Given the description of an element on the screen output the (x, y) to click on. 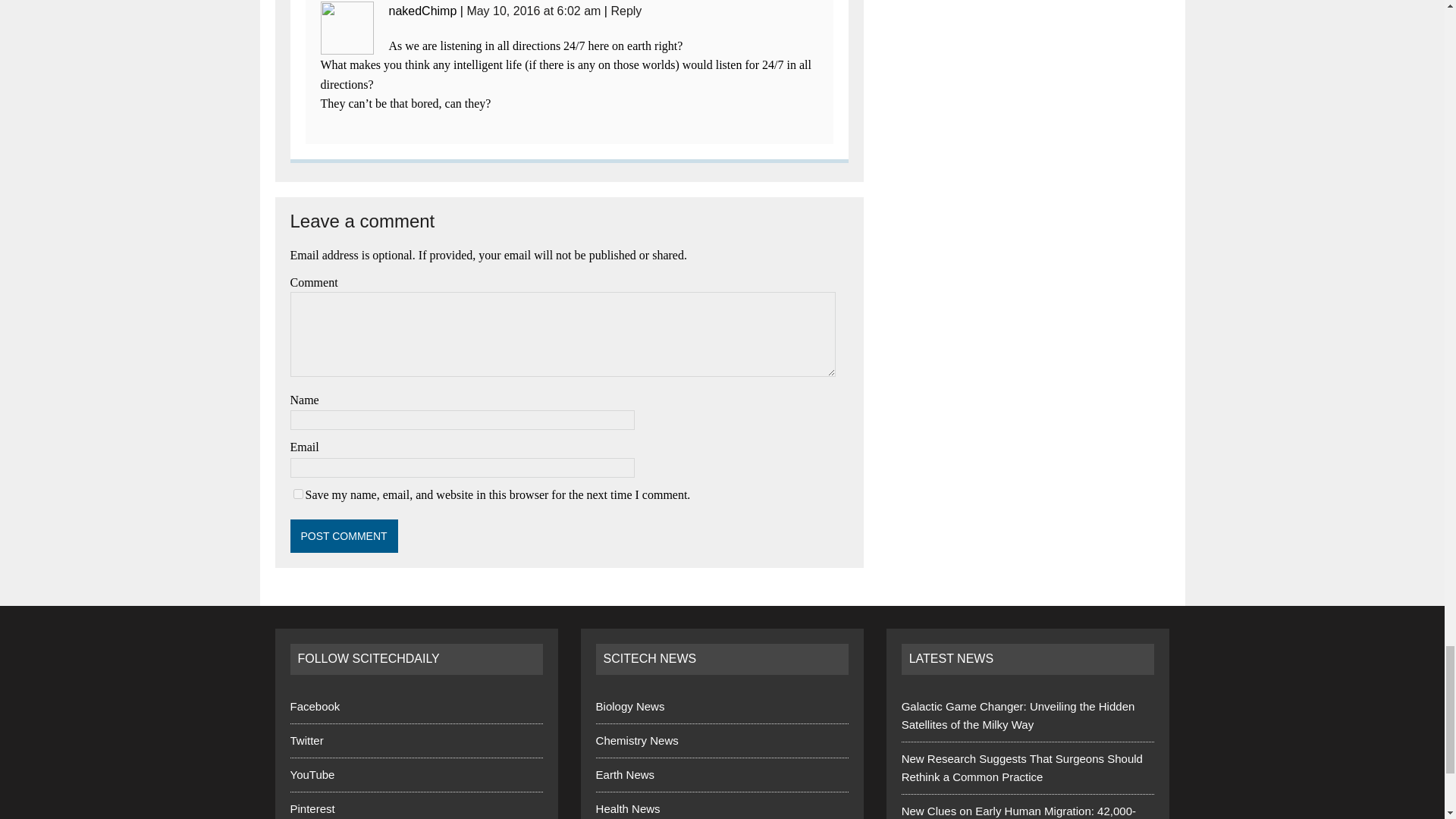
Post Comment (343, 535)
yes (297, 493)
